Given the description of an element on the screen output the (x, y) to click on. 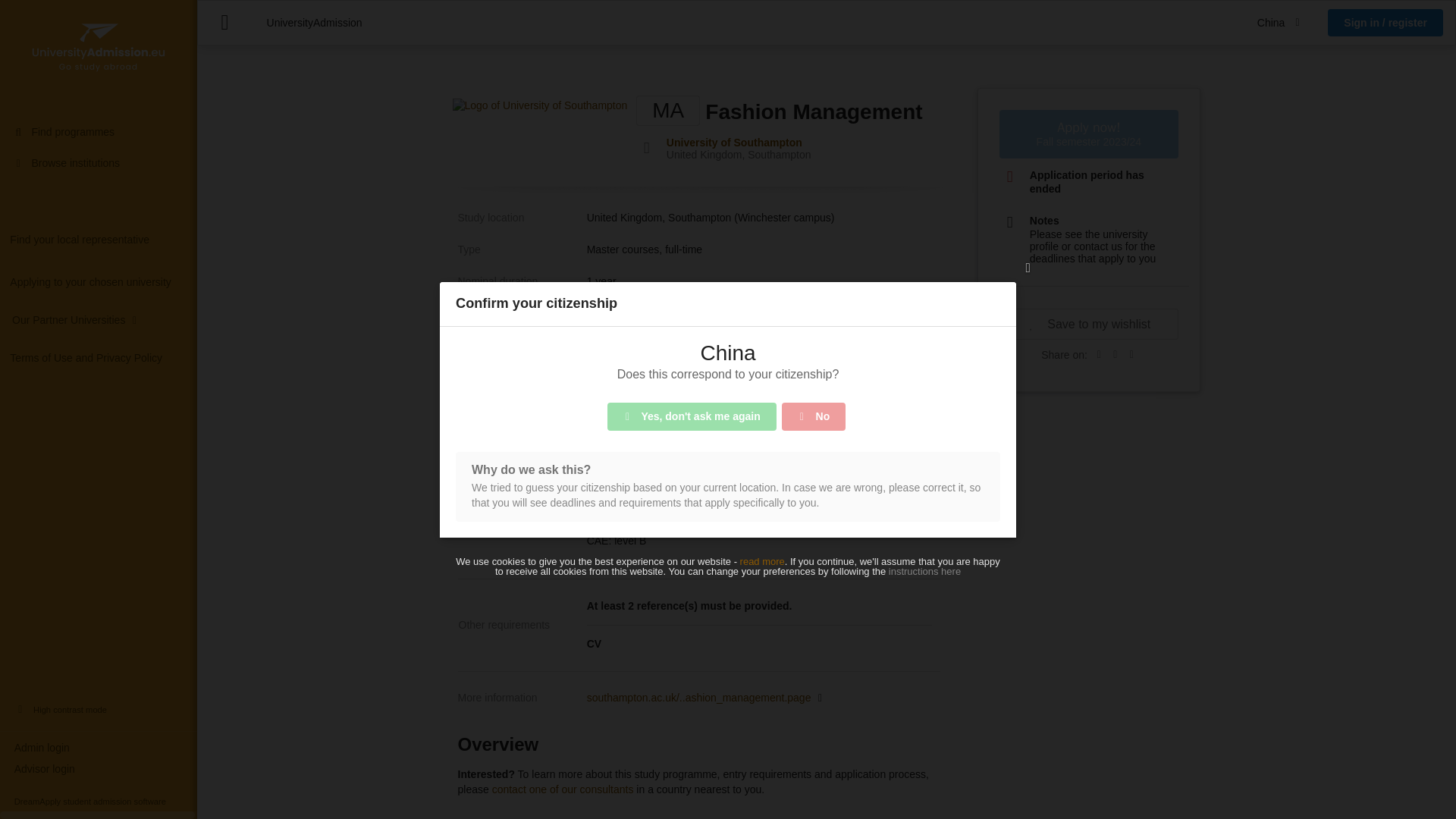
University of Southampton (734, 142)
Admin login (98, 747)
contact one of our consultants (562, 788)
Find programmes (98, 132)
UniversityAdmission (314, 22)
Find your local representative (99, 239)
Our Partner Universities (68, 319)
High contrast mode (98, 709)
Applying to your chosen university (99, 281)
No (813, 416)
